Given the description of an element on the screen output the (x, y) to click on. 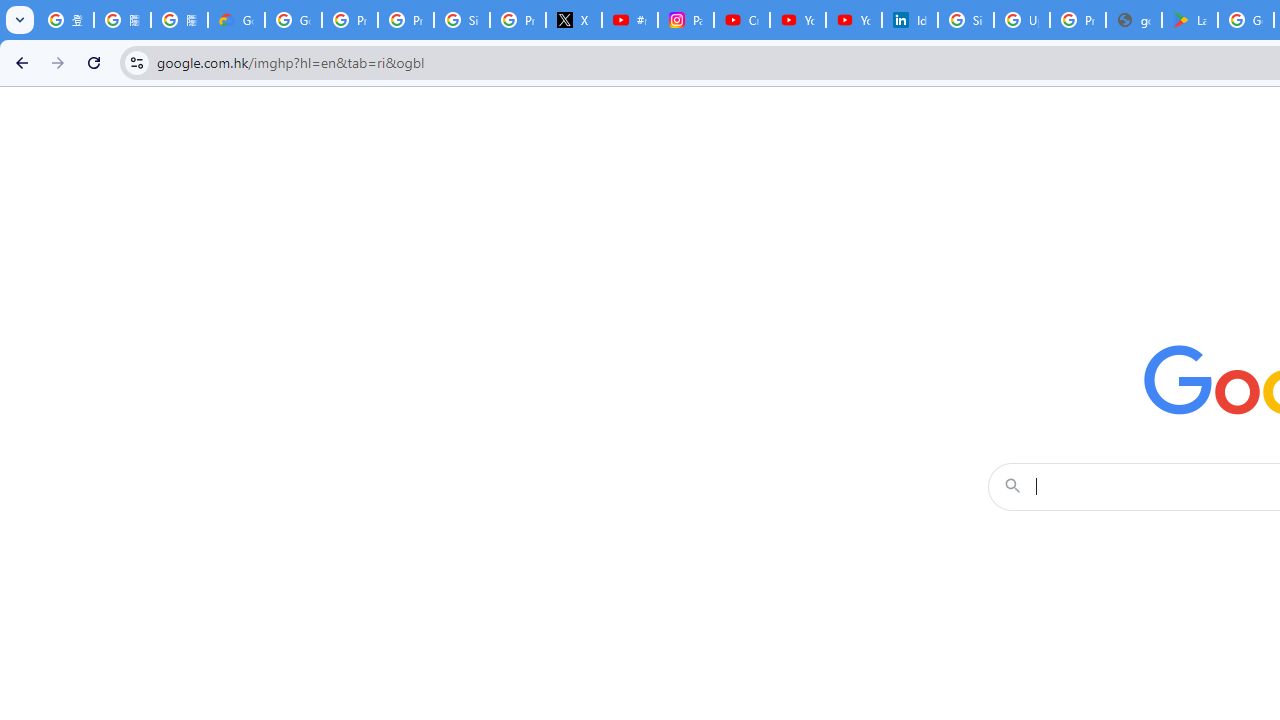
Google Cloud Privacy Notice (235, 20)
Sign in - Google Accounts (966, 20)
X (573, 20)
YouTube Culture & Trends - YouTube Top 10, 2021 (853, 20)
Privacy Help Center - Policies Help (405, 20)
#nbabasketballhighlights - YouTube (629, 20)
